Given the description of an element on the screen output the (x, y) to click on. 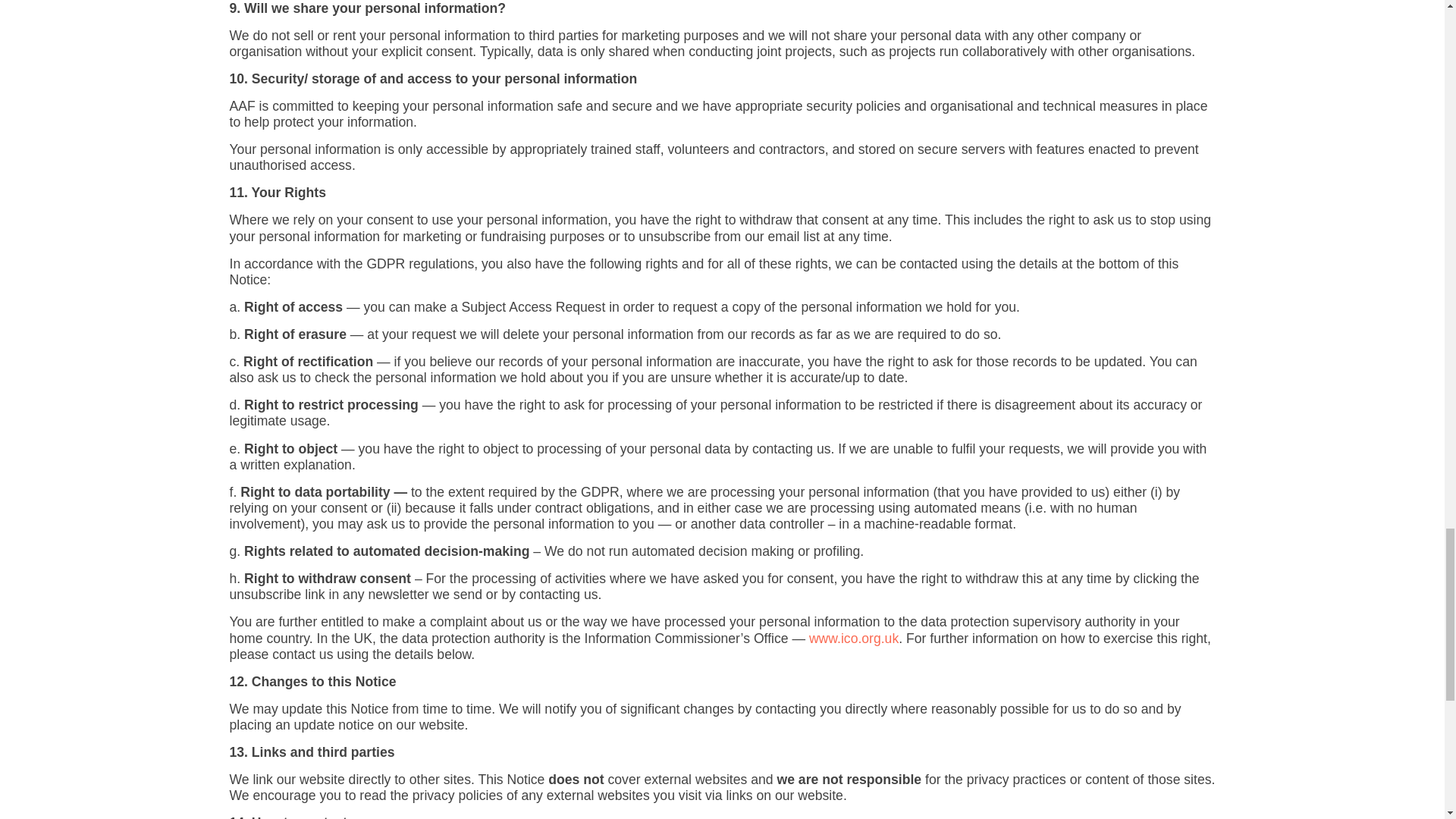
www.ico.org.uk (853, 638)
